Given the description of an element on the screen output the (x, y) to click on. 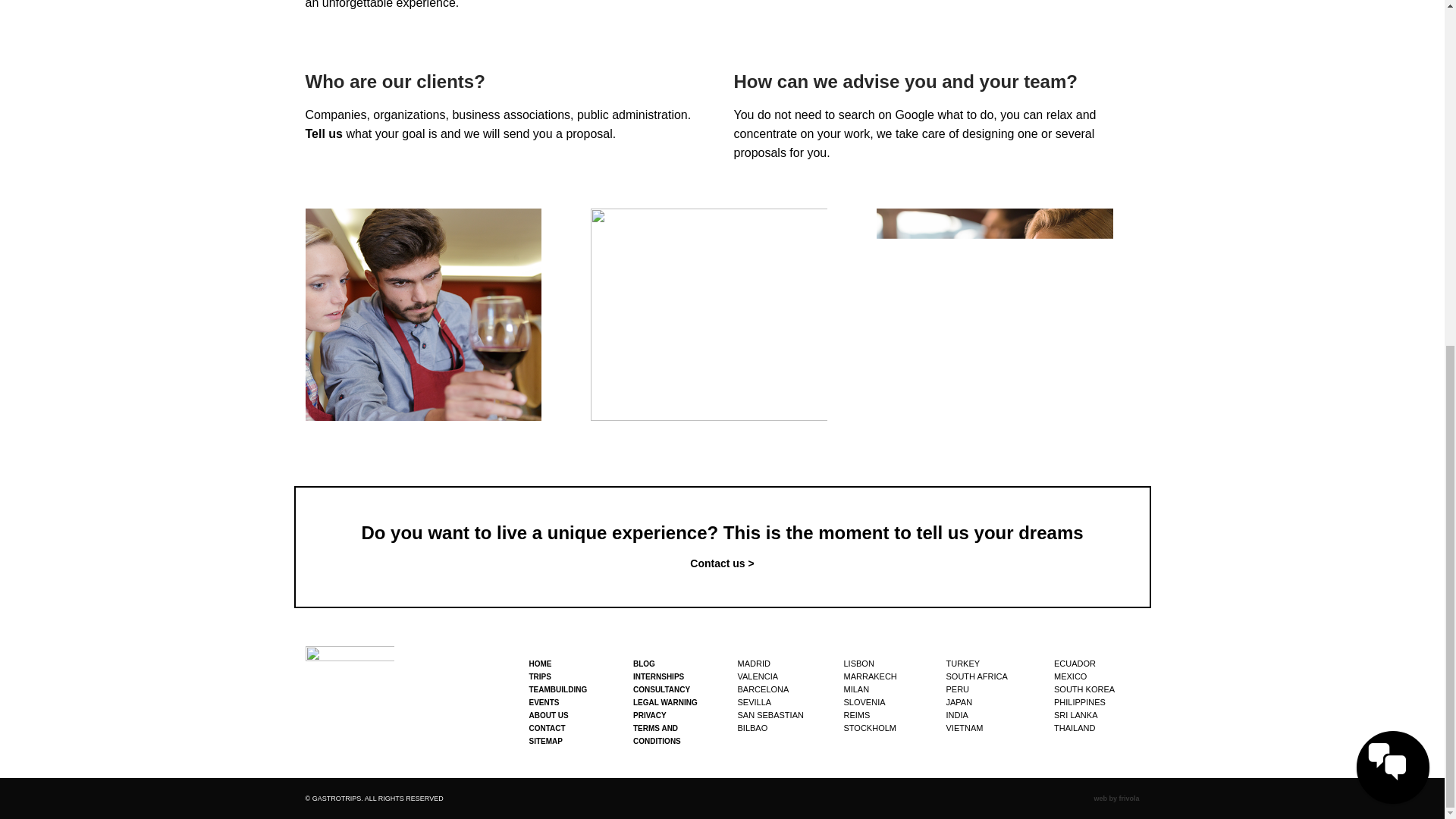
Tell us (323, 133)
